Given the description of an element on the screen output the (x, y) to click on. 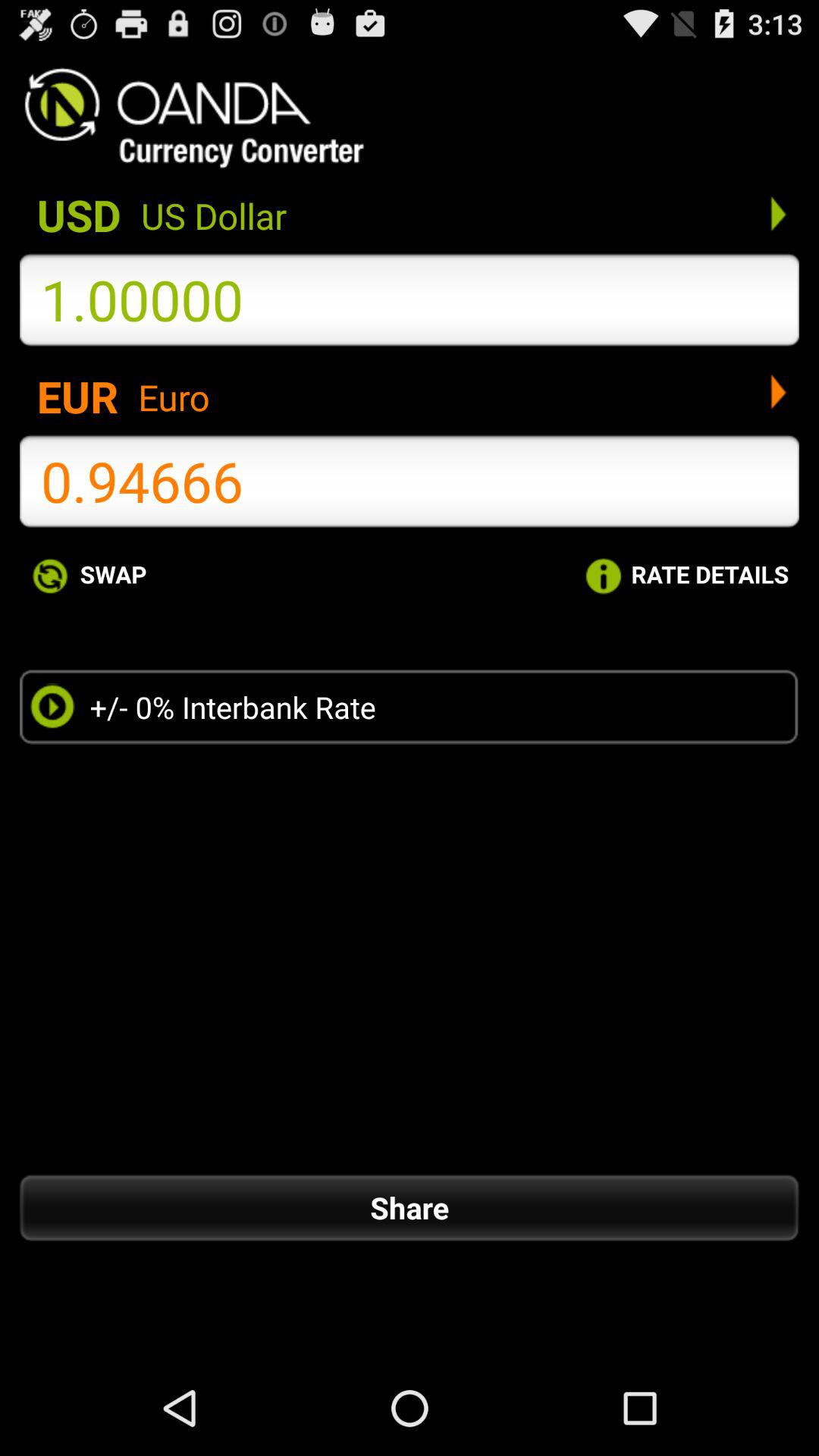
click on usd us dollar (409, 212)
